Given the description of an element on the screen output the (x, y) to click on. 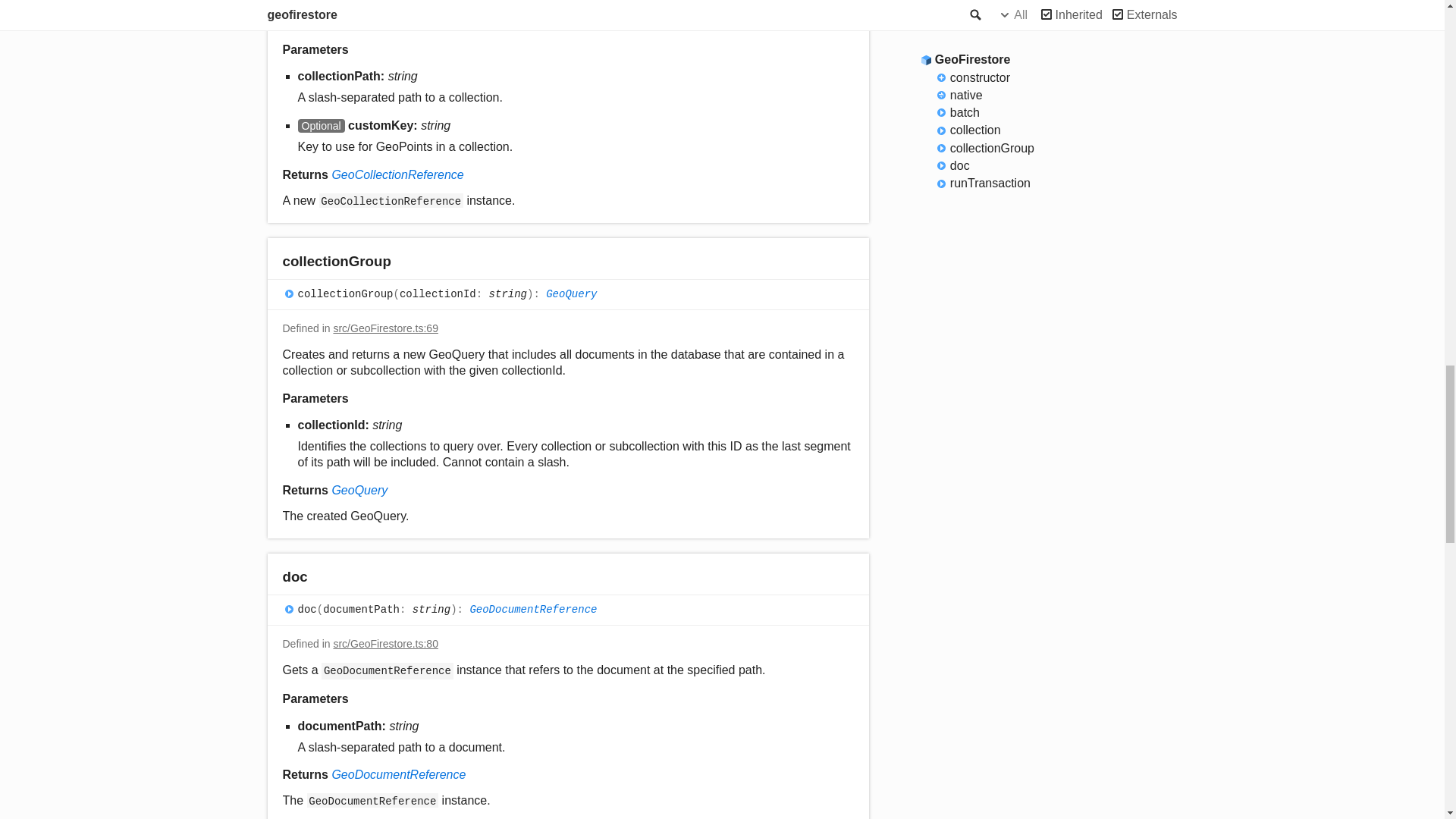
GeoQuery (359, 490)
GeoCollectionReference (397, 174)
GeoDocumentReference (398, 774)
GeoDocumentReference (532, 609)
GeoQuery (571, 294)
